Given the description of an element on the screen output the (x, y) to click on. 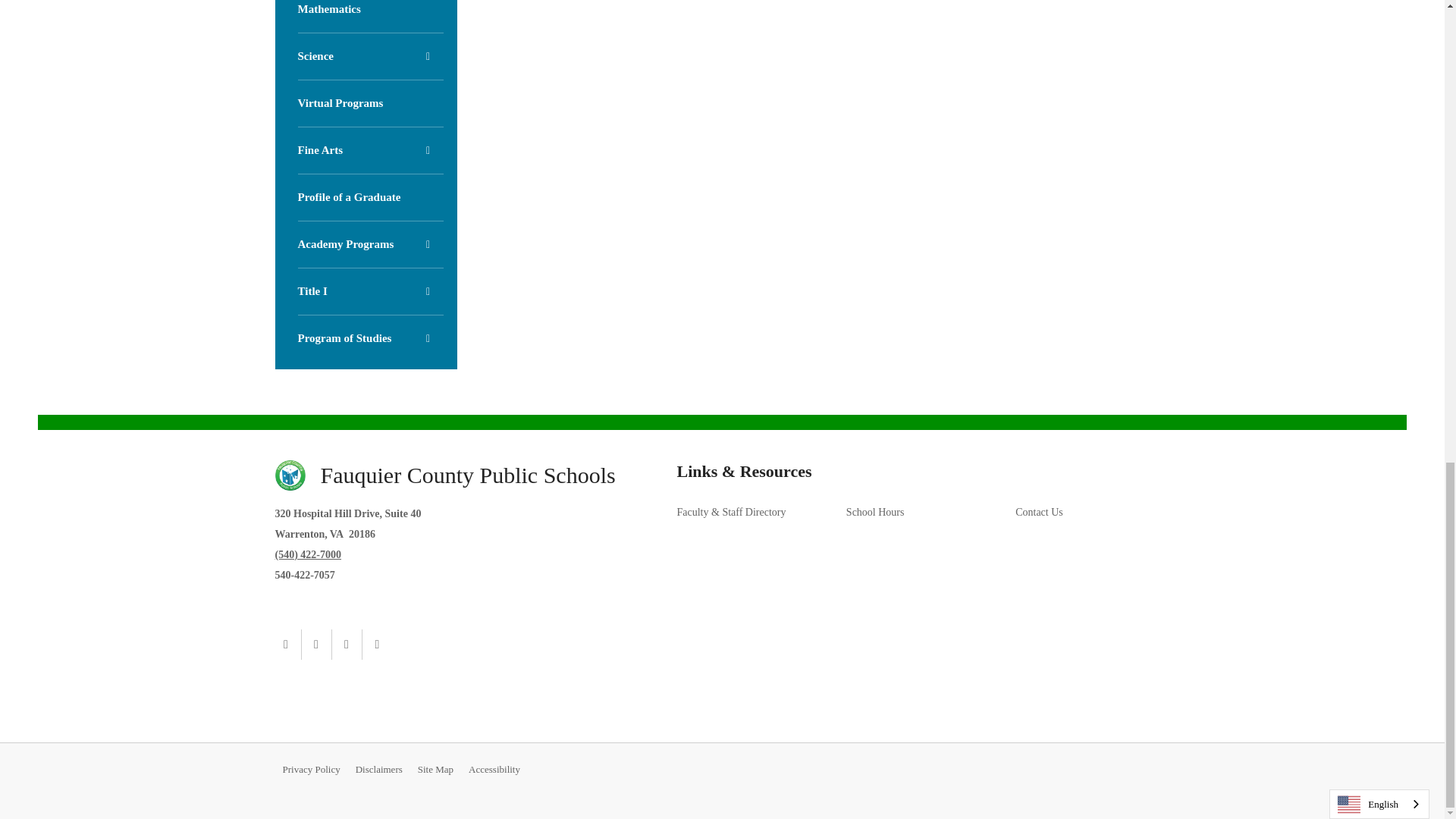
Powered by Finalsite opens in a new window (1118, 769)
